Given the description of an element on the screen output the (x, y) to click on. 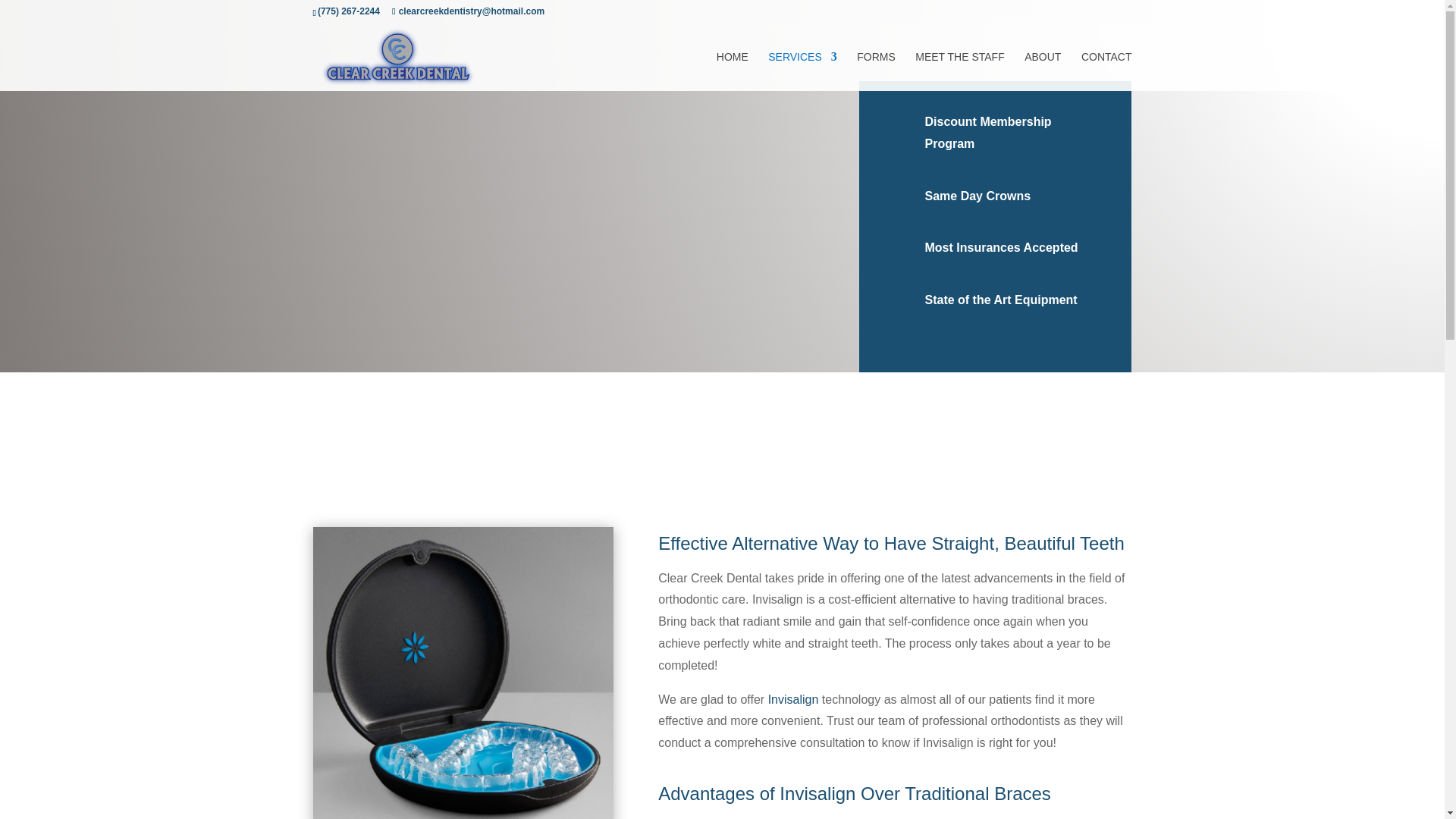
ABOUT (1043, 70)
CONTACT (1106, 70)
FORMS (876, 70)
Invisalign (793, 698)
invisalign (462, 673)
MEET THE STAFF (959, 70)
SERVICES (802, 70)
